Given the description of an element on the screen output the (x, y) to click on. 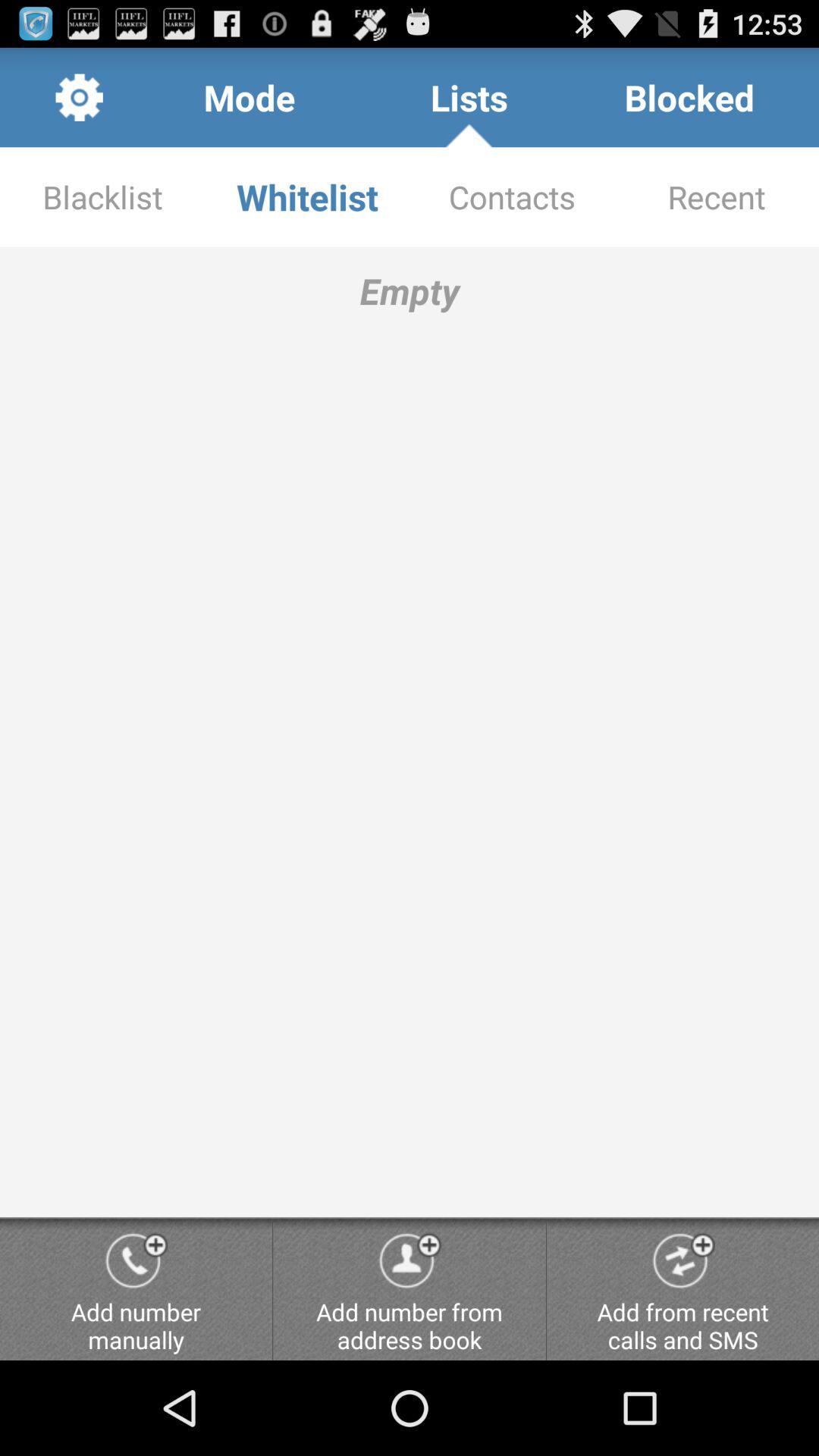
press item next to the mode (469, 97)
